Given the description of an element on the screen output the (x, y) to click on. 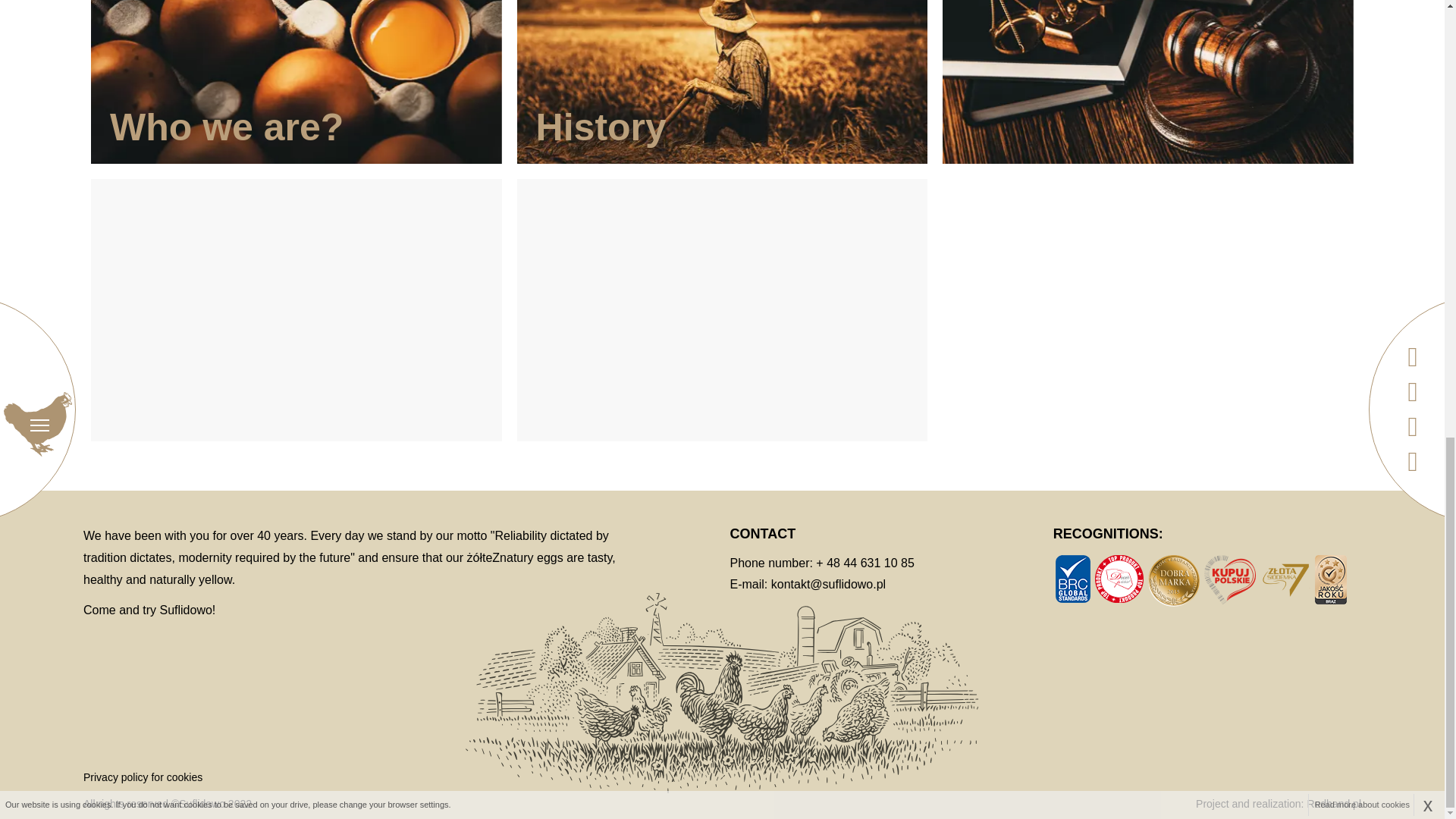
Redhand.pl (1333, 804)
Privacy policy for cookies (142, 776)
History (722, 81)
Who we are? (296, 81)
